Given the description of an element on the screen output the (x, y) to click on. 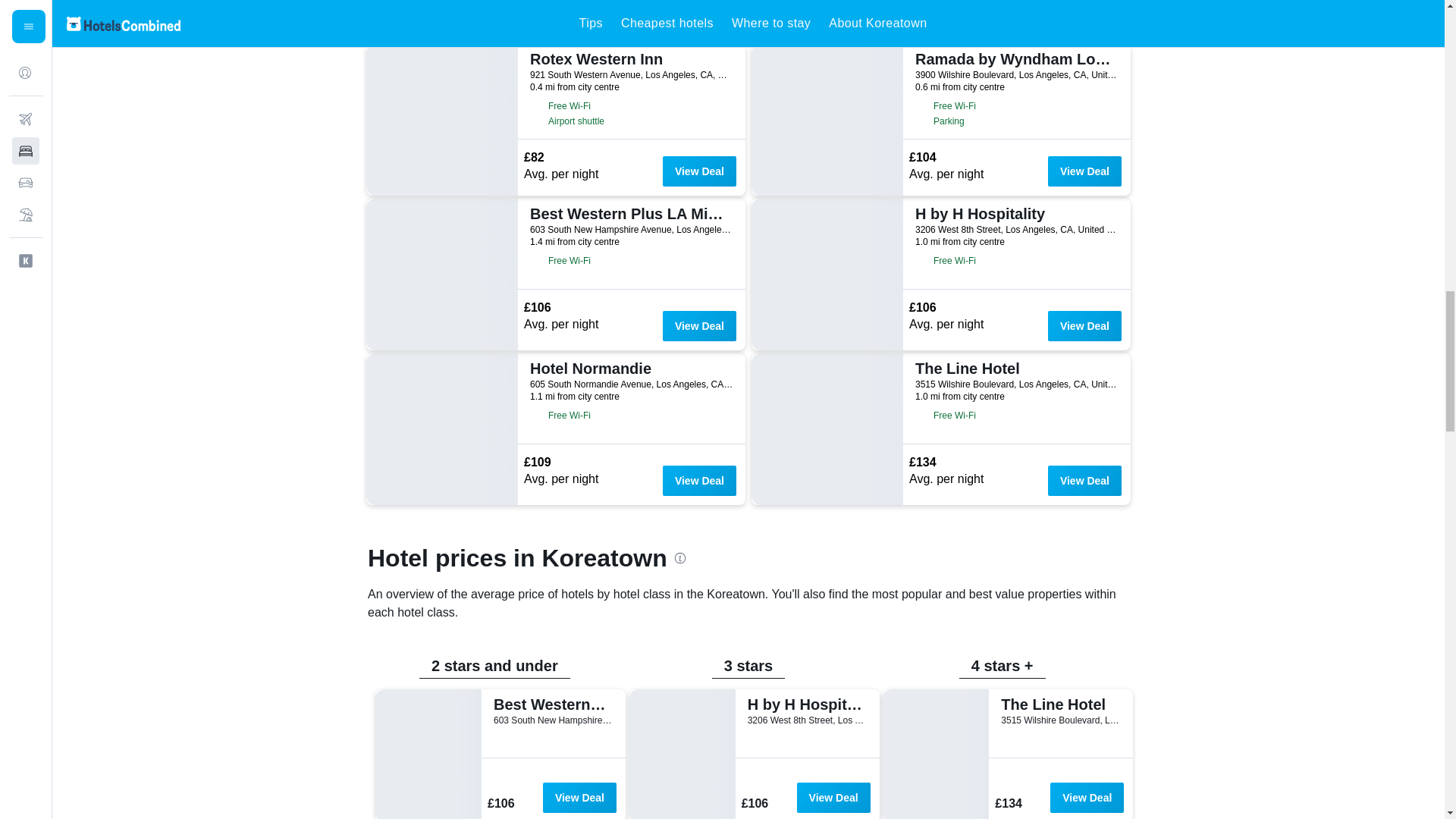
View Deal (1084, 326)
Rotex Western Inn (629, 58)
Hotel Normandie (629, 368)
View Deal (699, 326)
View Deal (1084, 171)
Show all 107 hotels (424, 20)
Best Western Plus LA Mid-Town Hotel (629, 213)
H by H Hospitality (1015, 213)
View Deal (699, 171)
